Given the description of an element on the screen output the (x, y) to click on. 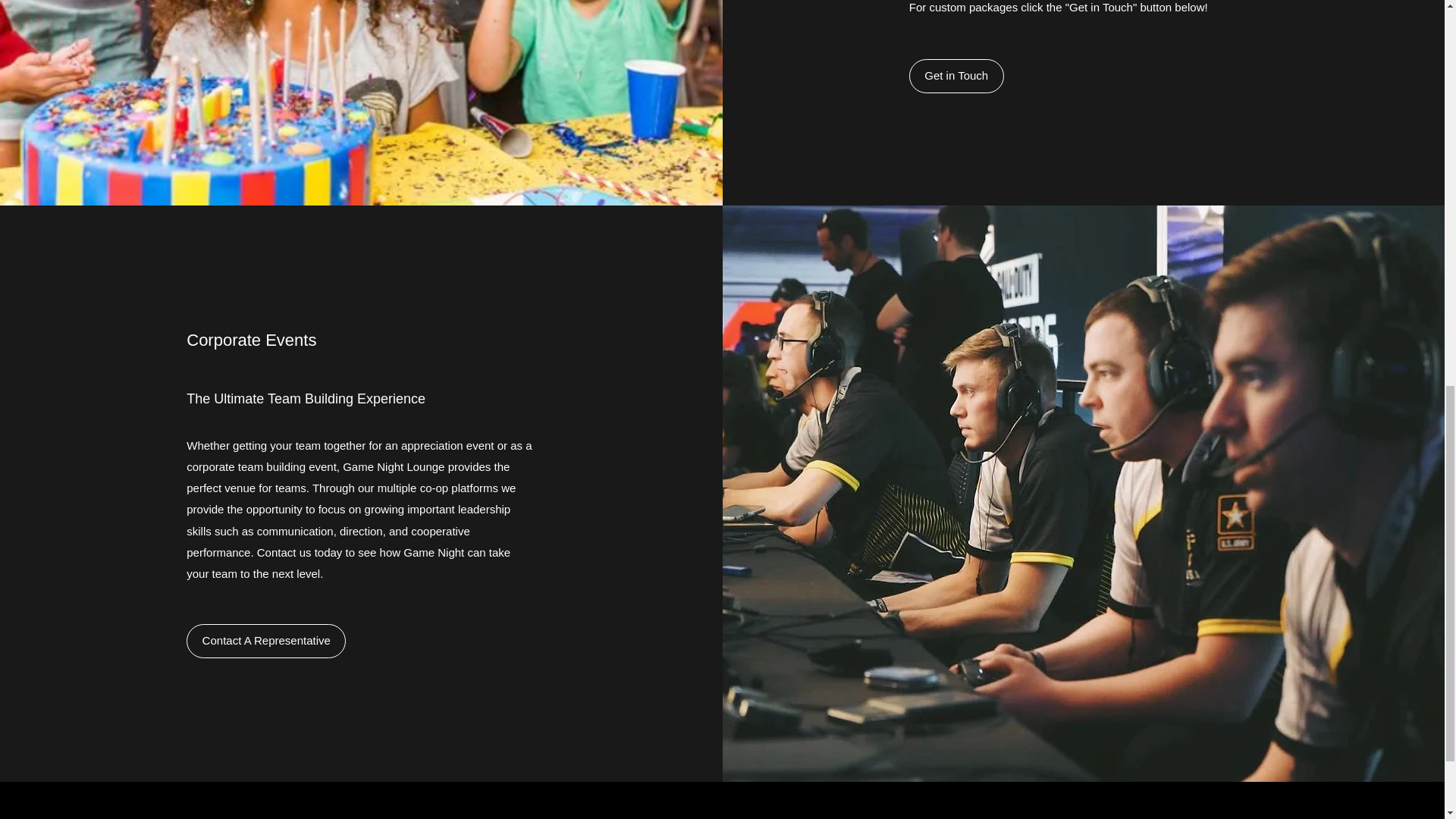
Contact A Representative (266, 641)
